Given the description of an element on the screen output the (x, y) to click on. 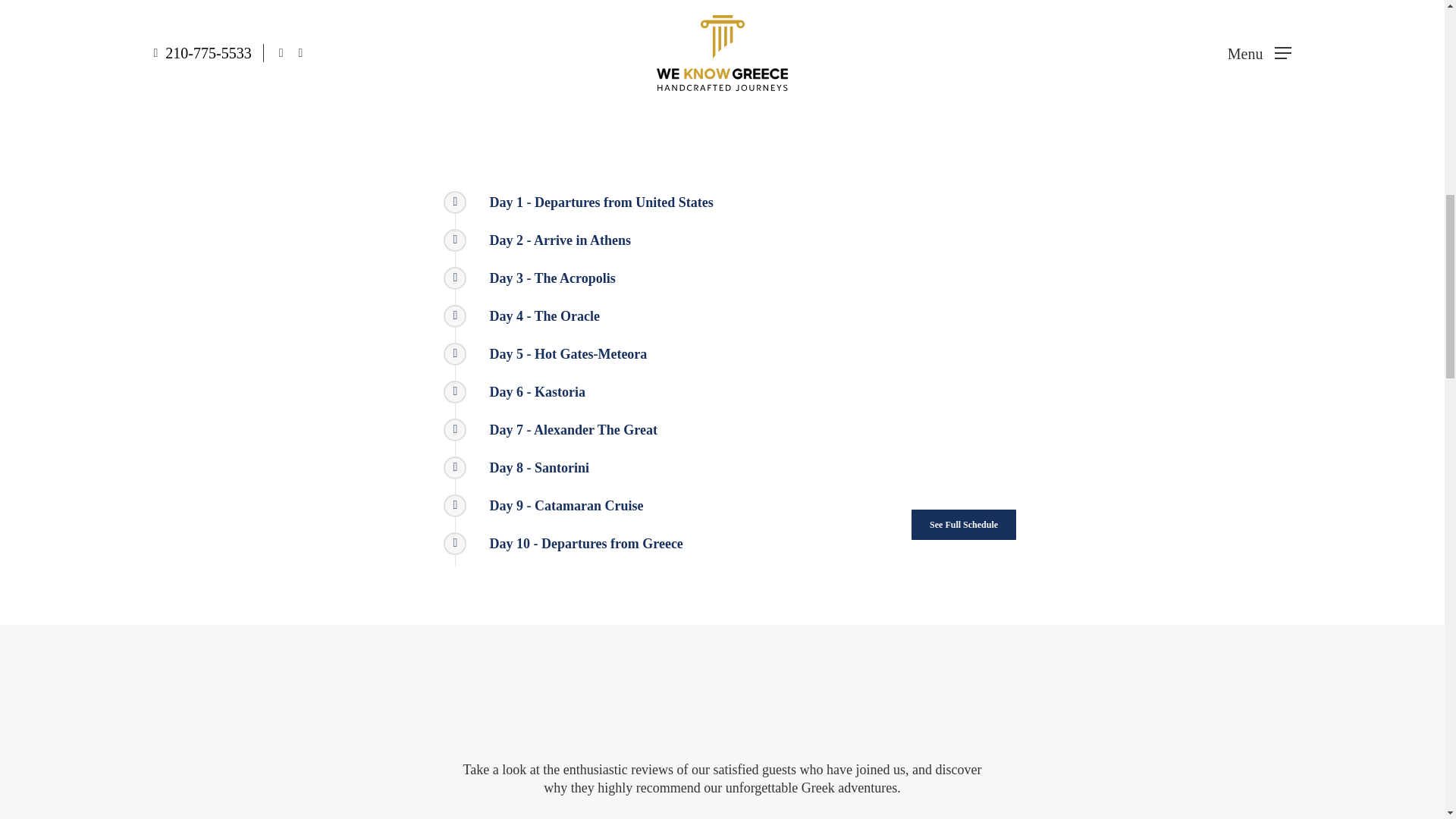
See Full Schedule (963, 524)
